Given the description of an element on the screen output the (x, y) to click on. 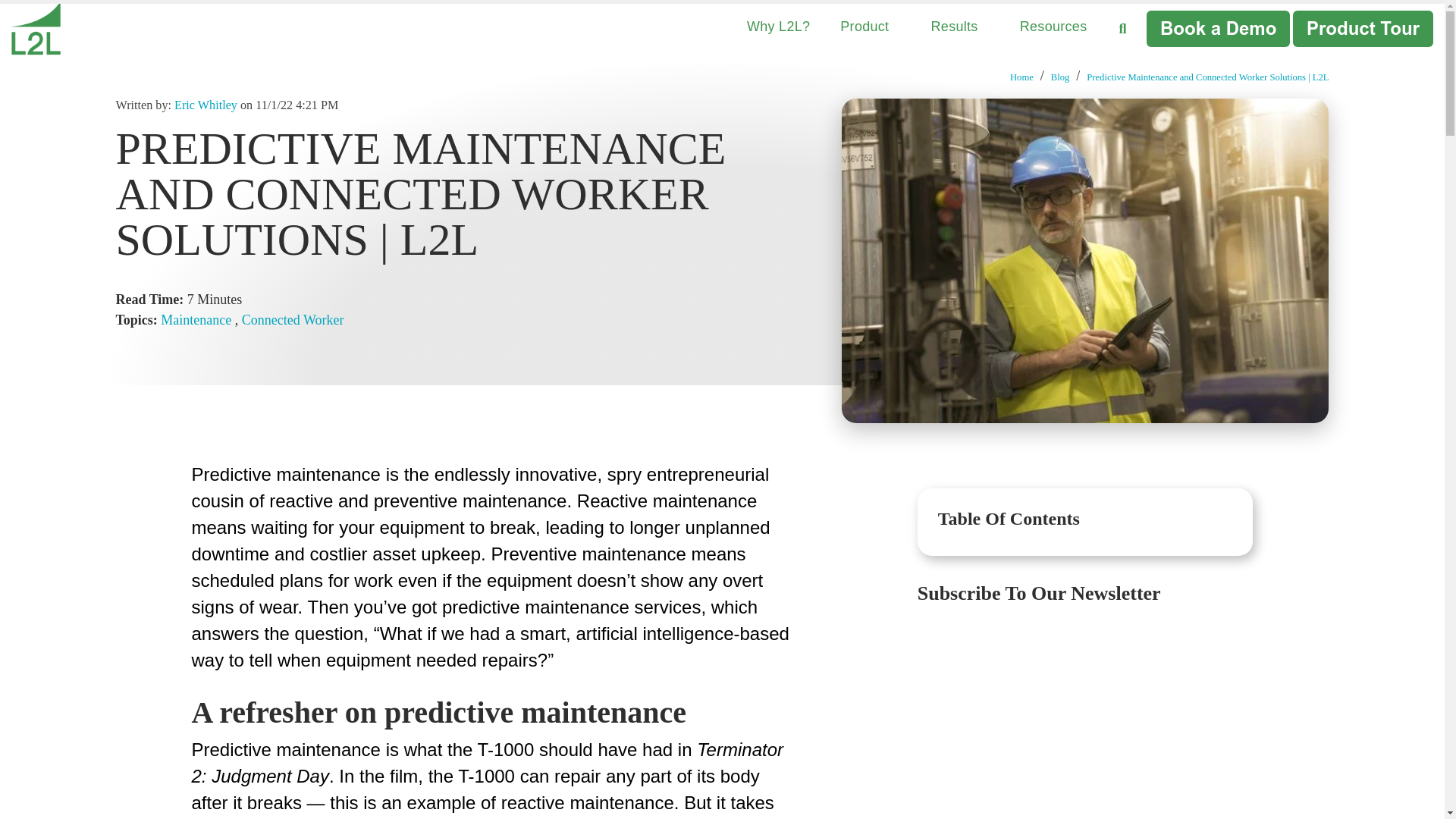
Why L2L? (777, 26)
Results (960, 26)
Resources (1059, 26)
Product (869, 26)
